Given the description of an element on the screen output the (x, y) to click on. 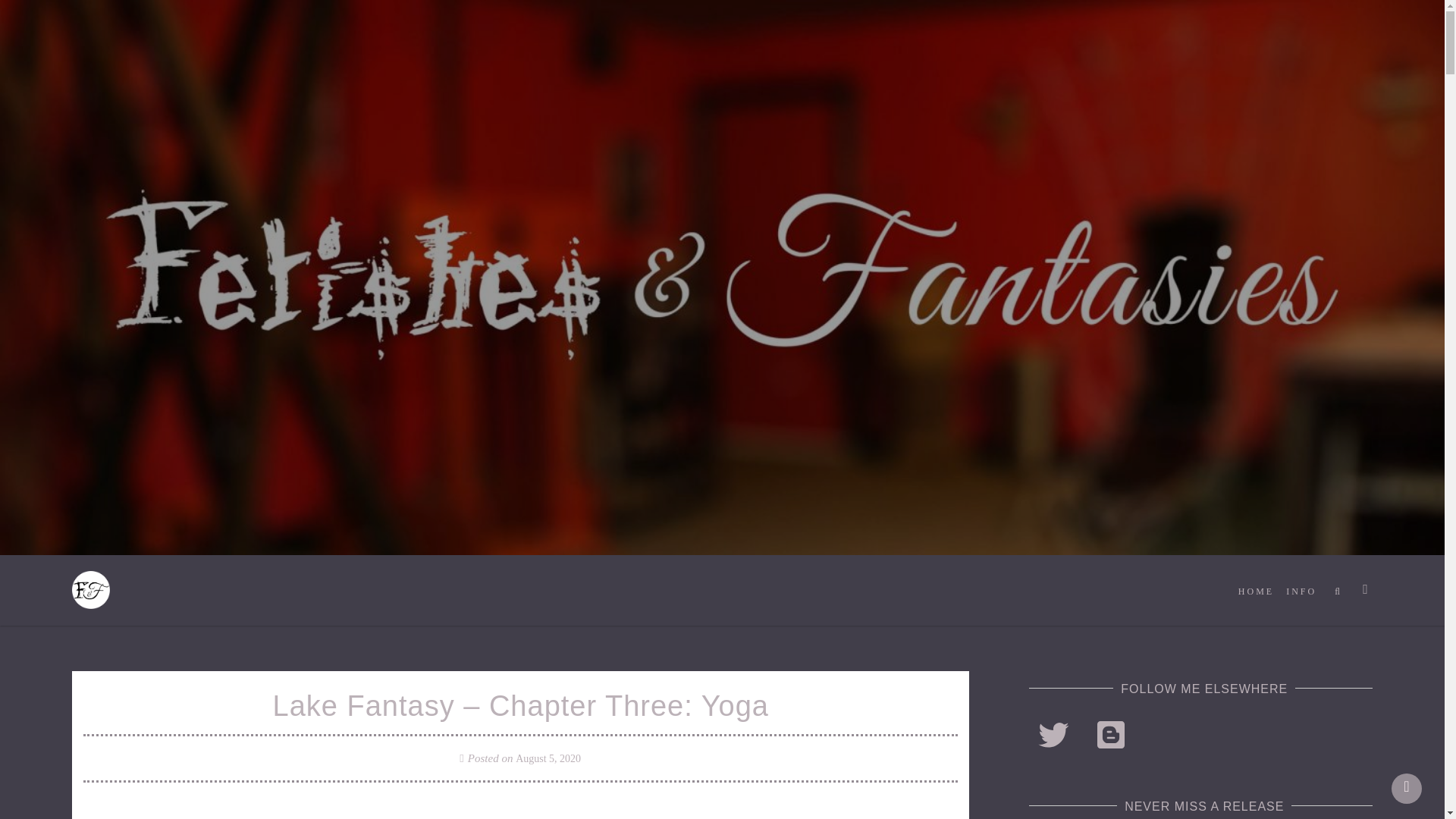
Go to Top (1406, 788)
INFO (1300, 591)
August 5, 2020 (547, 759)
HOME (1255, 591)
